Given the description of an element on the screen output the (x, y) to click on. 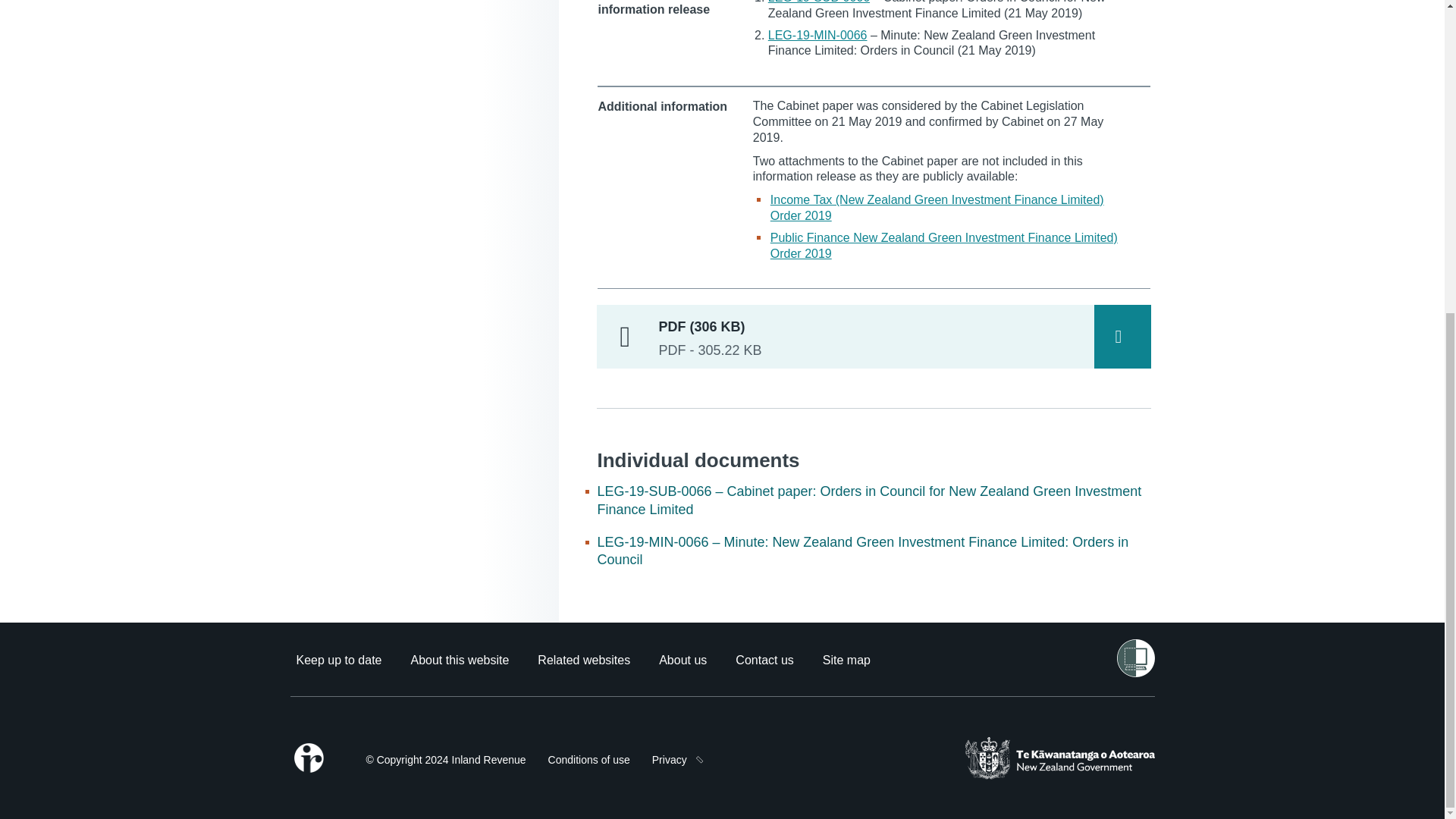
Contact us (764, 659)
LEG-19-SUB-0066 (818, 2)
Copyright policy (445, 759)
Conditions of use (589, 759)
Site map (846, 659)
Keep up to date (338, 659)
Related websites (583, 659)
Keep up to date (338, 659)
LEG-19-MIN-0066 (817, 34)
Related websites (583, 659)
Privacy (669, 759)
About this website (459, 659)
About this website (459, 659)
About us (682, 659)
About us (682, 659)
